Given the description of an element on the screen output the (x, y) to click on. 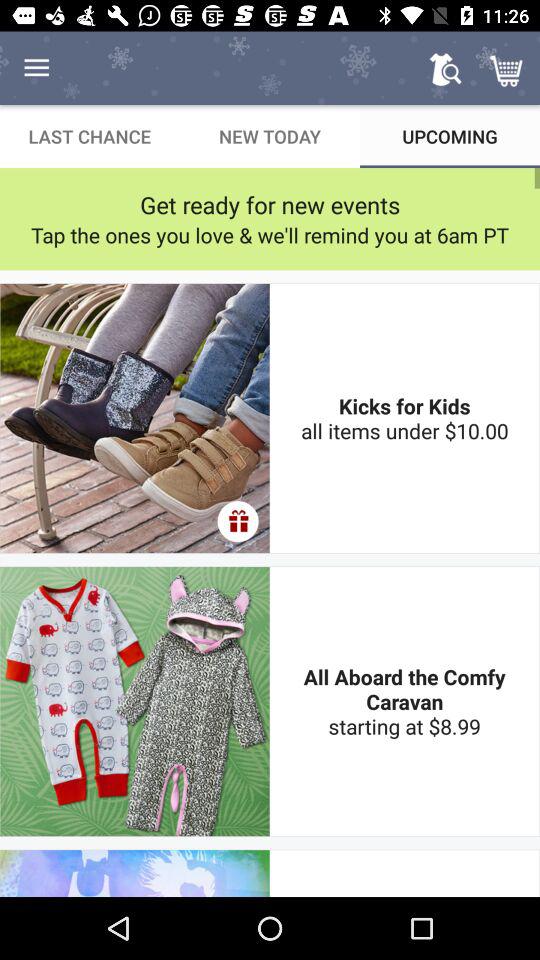
tap tap the ones icon (270, 234)
